Given the description of an element on the screen output the (x, y) to click on. 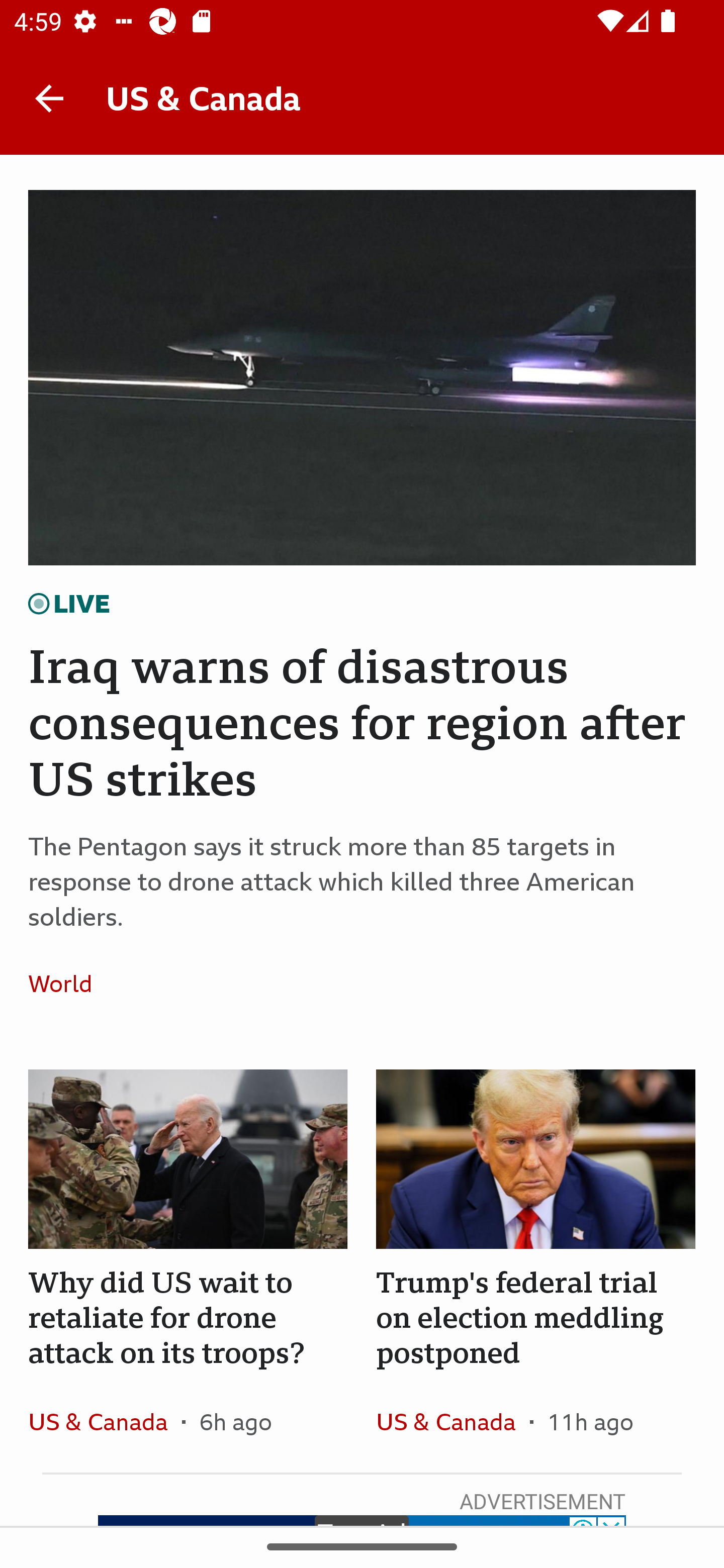
Back (49, 97)
World In the section World (67, 983)
US & Canada In the section US & Canada (104, 1421)
US & Canada In the section US & Canada (452, 1421)
